Given the description of an element on the screen output the (x, y) to click on. 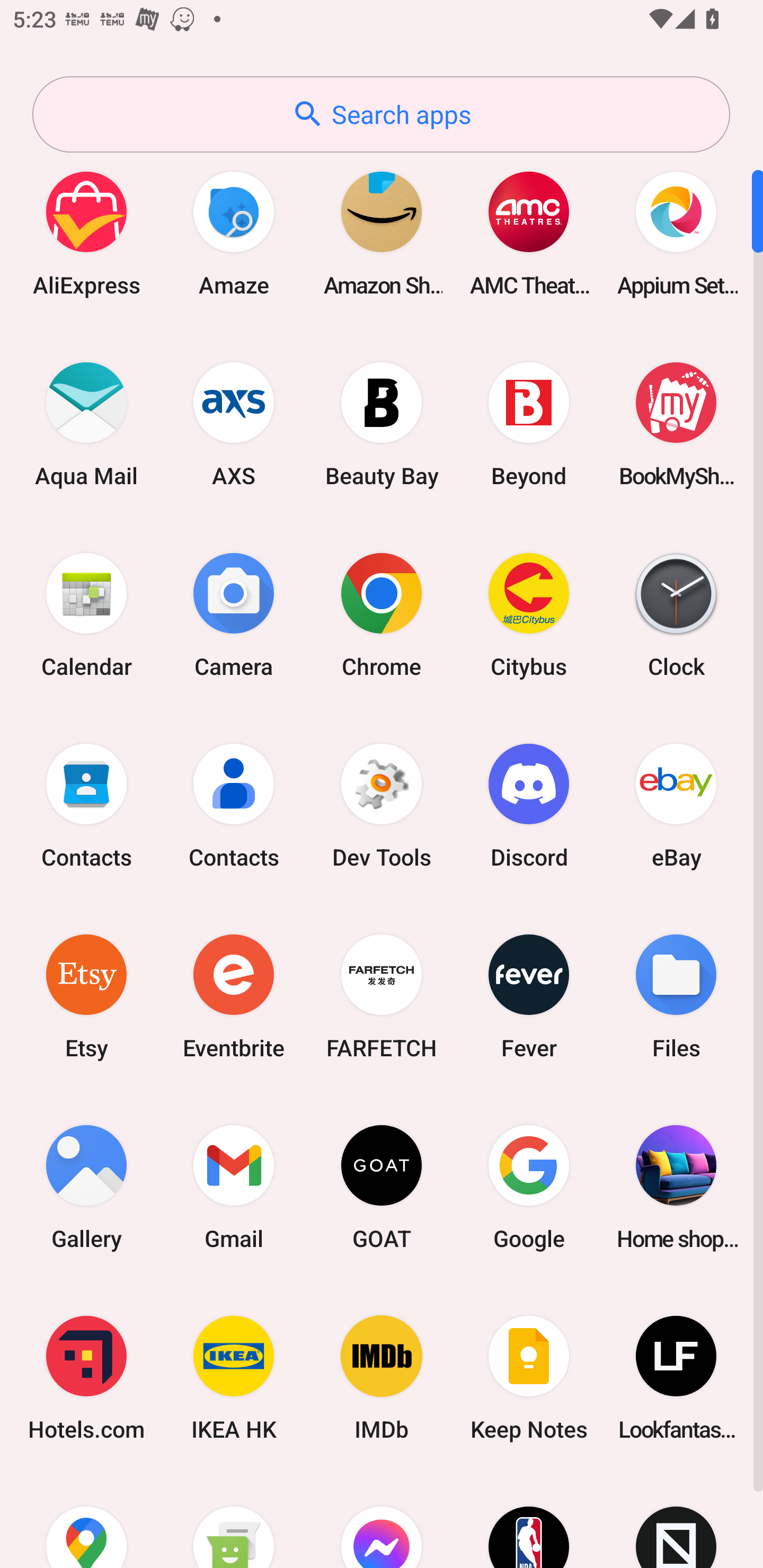
  Search apps (381, 114)
AliExpress (86, 233)
Amaze (233, 233)
Amazon Shopping (381, 233)
AMC Theatres (528, 233)
Appium Settings (676, 233)
Aqua Mail (86, 424)
AXS (233, 424)
Beauty Bay (381, 424)
Beyond (528, 424)
BookMyShow (676, 424)
Calendar (86, 614)
Camera (233, 614)
Chrome (381, 614)
Citybus (528, 614)
Clock (676, 614)
Contacts (86, 805)
Contacts (233, 805)
Dev Tools (381, 805)
Discord (528, 805)
eBay (676, 805)
Etsy (86, 996)
Eventbrite (233, 996)
FARFETCH (381, 996)
Fever (528, 996)
Files (676, 996)
Gallery (86, 1186)
Gmail (233, 1186)
GOAT (381, 1186)
Google (528, 1186)
Home shopping (676, 1186)
Hotels.com (86, 1377)
IKEA HK (233, 1377)
IMDb (381, 1377)
Keep Notes (528, 1377)
Lookfantastic (676, 1377)
Maps (86, 1520)
Messaging (233, 1520)
Messenger (381, 1520)
NBA (528, 1520)
Novelship (676, 1520)
